Given the description of an element on the screen output the (x, y) to click on. 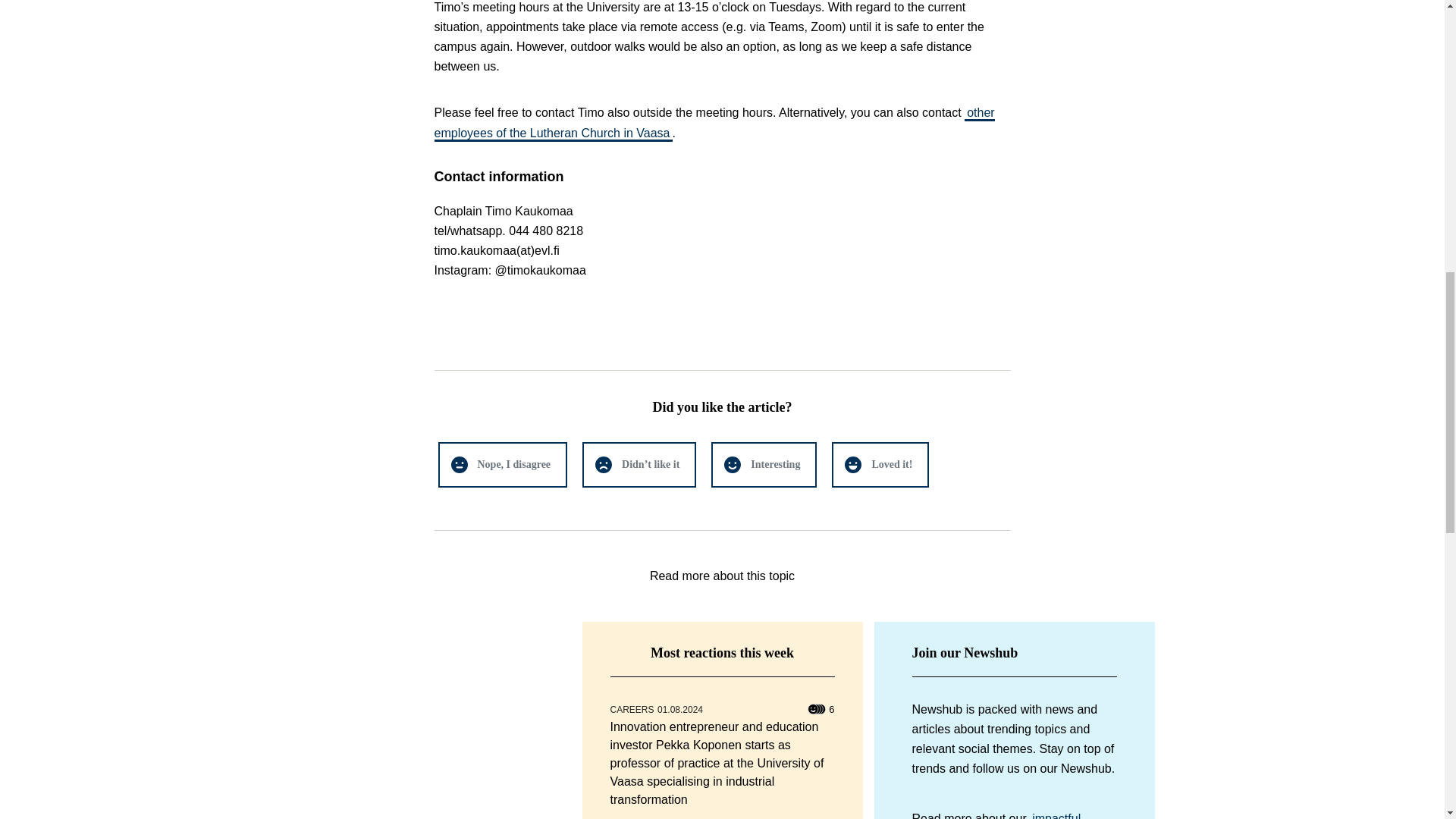
other employees of the Lutheran Church in Vaasa (713, 122)
impactful research (995, 814)
